Given the description of an element on the screen output the (x, y) to click on. 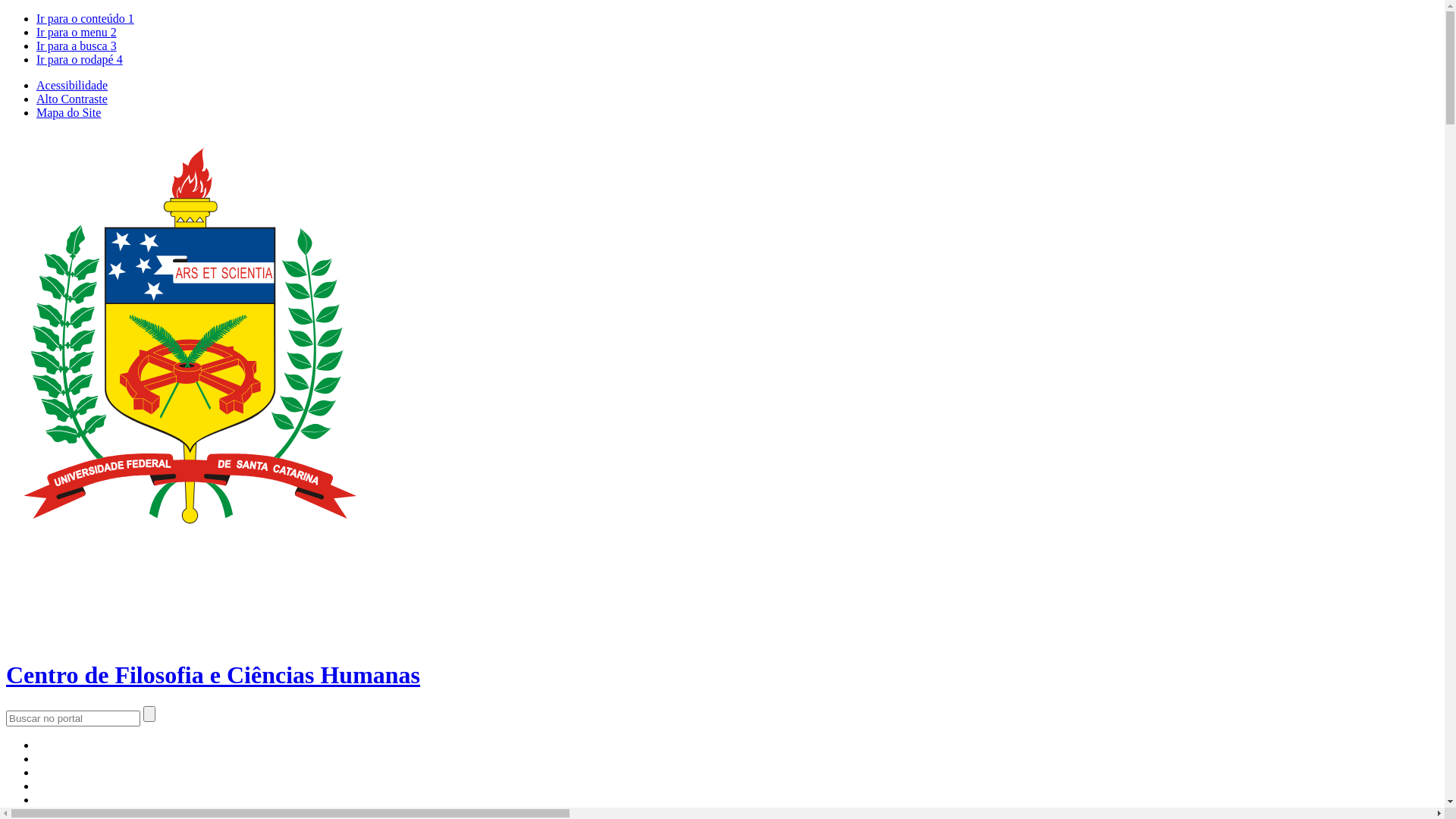
Alto Contraste Element type: text (71, 98)
Acessibilidade Element type: text (71, 84)
Mapa do Site Element type: text (68, 112)
Ir para o menu 2 Element type: text (76, 31)
Ir para a busca 3 Element type: text (76, 45)
